Given the description of an element on the screen output the (x, y) to click on. 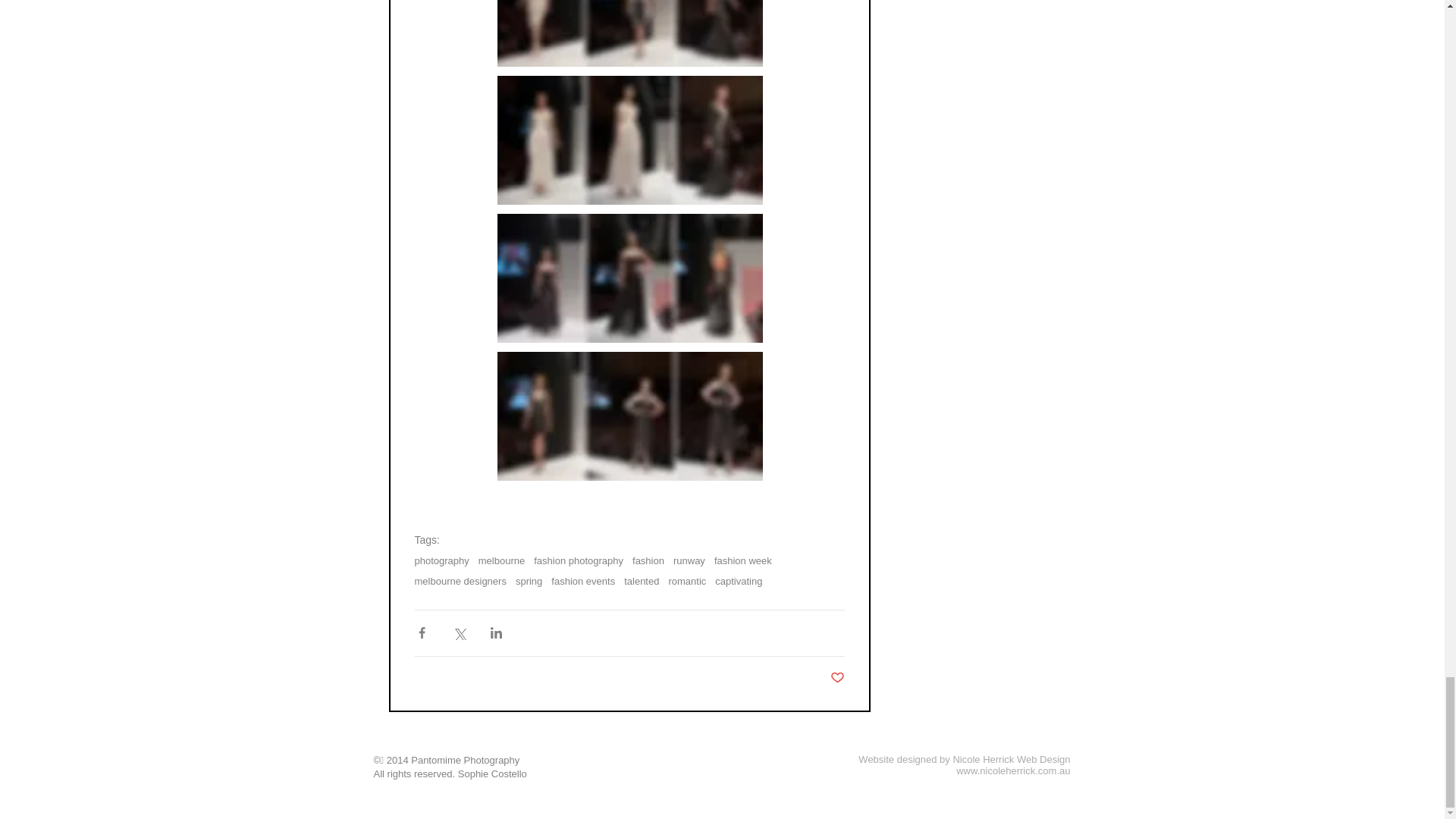
photography (440, 560)
fashion events (582, 580)
Post not marked as liked (836, 678)
spring (528, 580)
captivating (737, 580)
romantic (687, 580)
talented (641, 580)
fashion week (742, 560)
fashion (647, 560)
melbourne (501, 560)
runway (688, 560)
melbourne designers (459, 580)
fashion photography (578, 560)
